Given the description of an element on the screen output the (x, y) to click on. 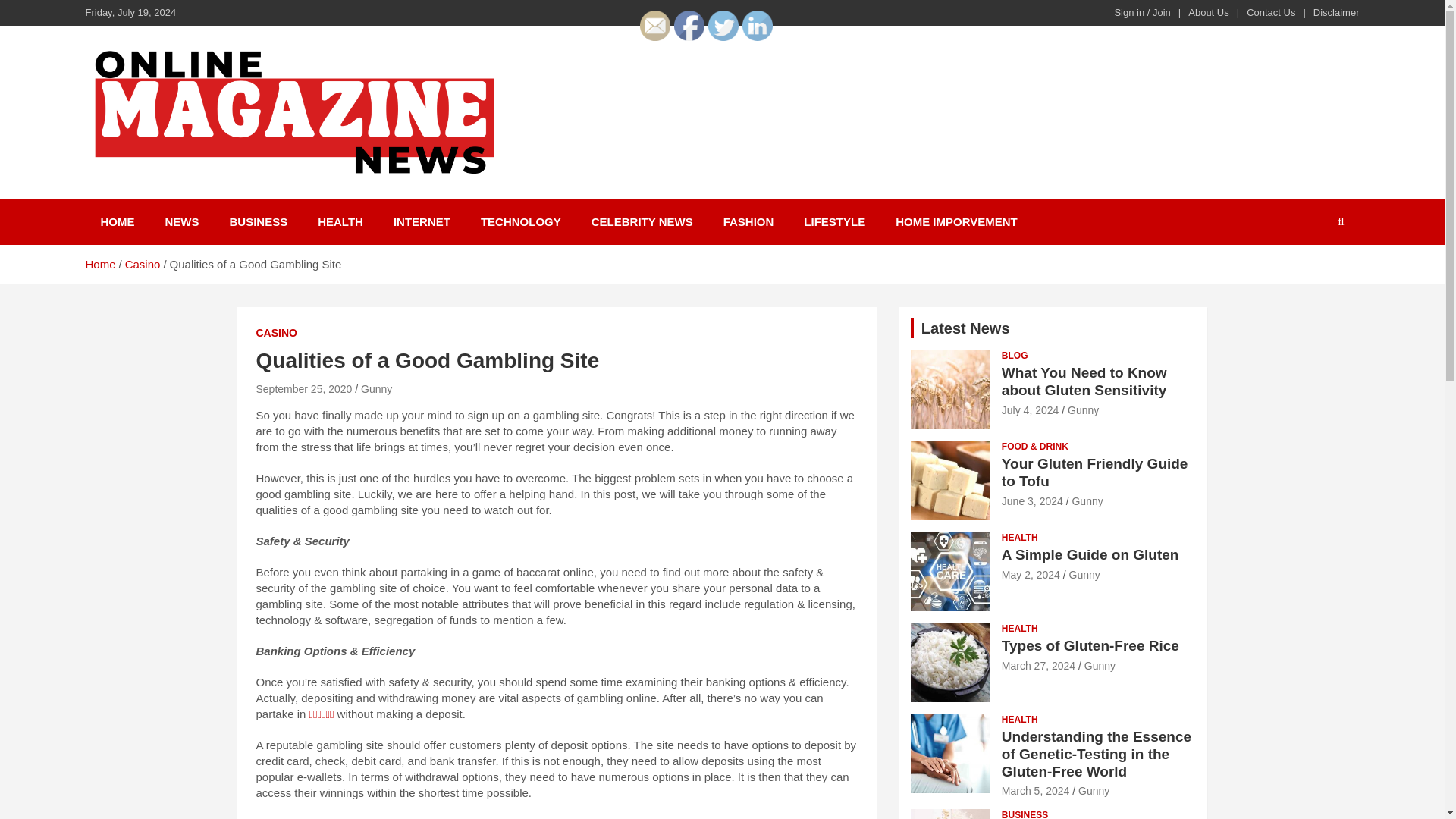
A Simple Guide on Gluten (1030, 574)
FASHION (748, 221)
Online Magazine News (248, 195)
HOME IMPORVEMENT (956, 221)
Casino (142, 264)
What You Need to Know about Gluten Sensitivity (1084, 381)
Home (99, 264)
HOME (116, 221)
Contact Us (1270, 12)
About Us (1208, 12)
Qualities of a Good Gambling Site (304, 388)
HEALTH (340, 221)
Gunny (1083, 410)
Disclaimer (1336, 12)
Gunny (376, 388)
